Given the description of an element on the screen output the (x, y) to click on. 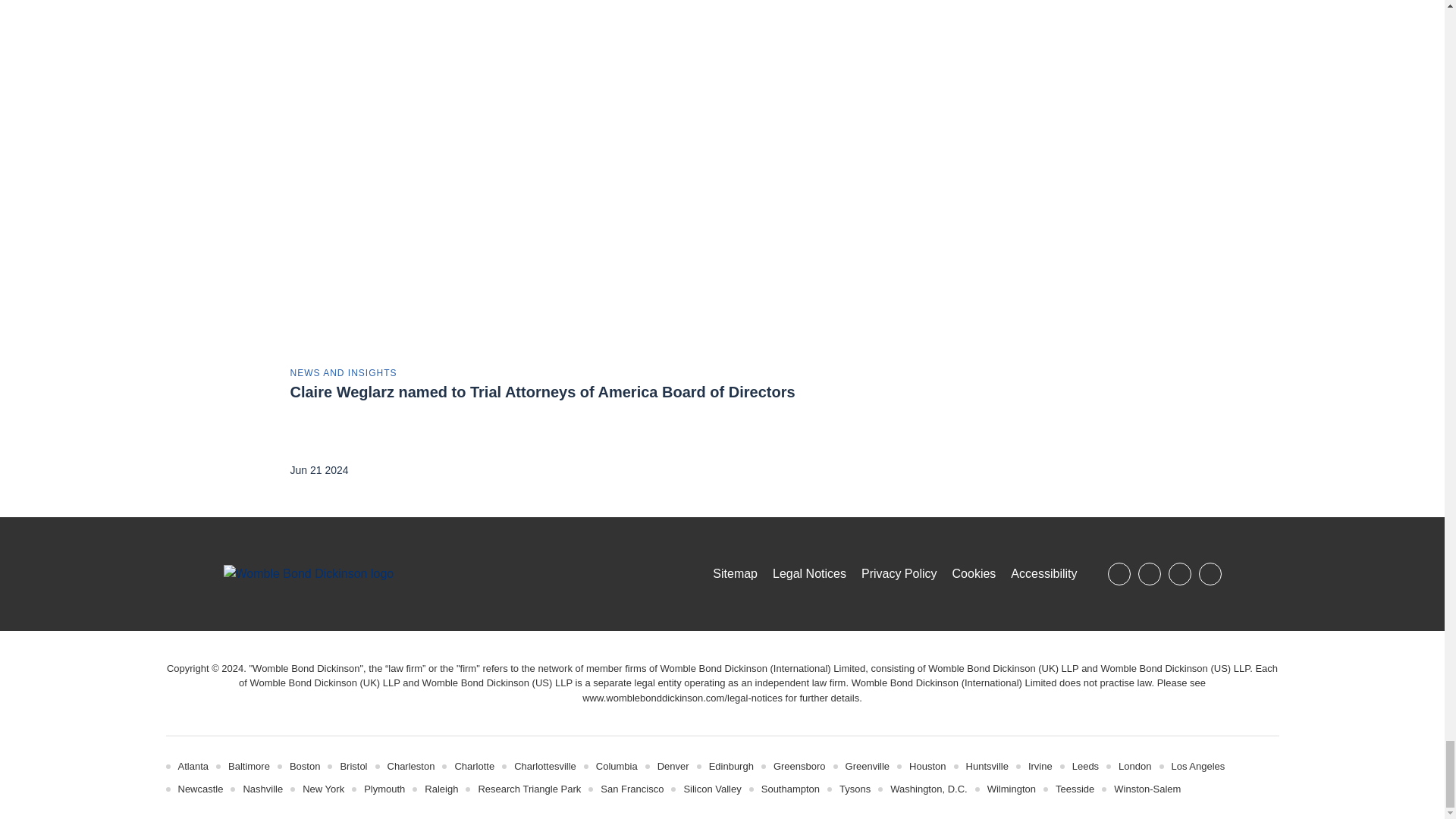
Atlanta, GA, US (192, 766)
Greensboro, NC, US (799, 766)
Columbia, SC, US (616, 766)
Denver, CO, US (673, 766)
Houston, TX, US (926, 766)
Legal Notices (682, 697)
Boston, MA, US (304, 766)
Newcastle (199, 789)
Irvine, CA, US  (1039, 766)
Edinburgh (731, 766)
Greenville, SC, US (867, 766)
London (1134, 766)
Leeds (1085, 766)
Charleston, SC, US (411, 766)
Charlotte, NC, US (474, 766)
